Given the description of an element on the screen output the (x, y) to click on. 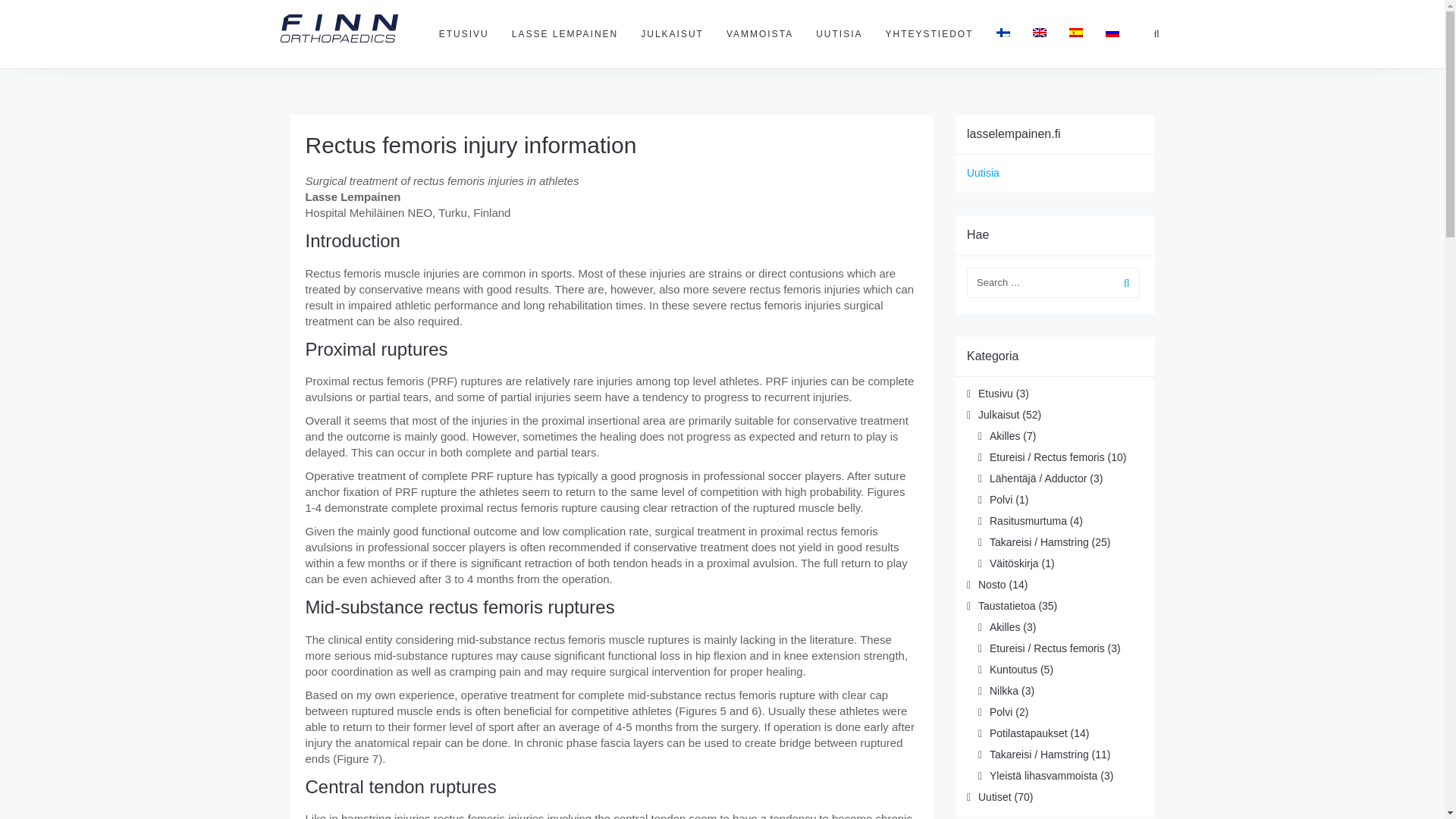
Rectus femoris injury information (470, 145)
JULKAISUT (671, 33)
VAMMOISTA (759, 33)
ETUSIVU (464, 33)
YHTEYSTIEDOT (928, 33)
Uutisia (982, 173)
LASSE LEMPAINEN (564, 33)
UUTISIA (839, 33)
